Given the description of an element on the screen output the (x, y) to click on. 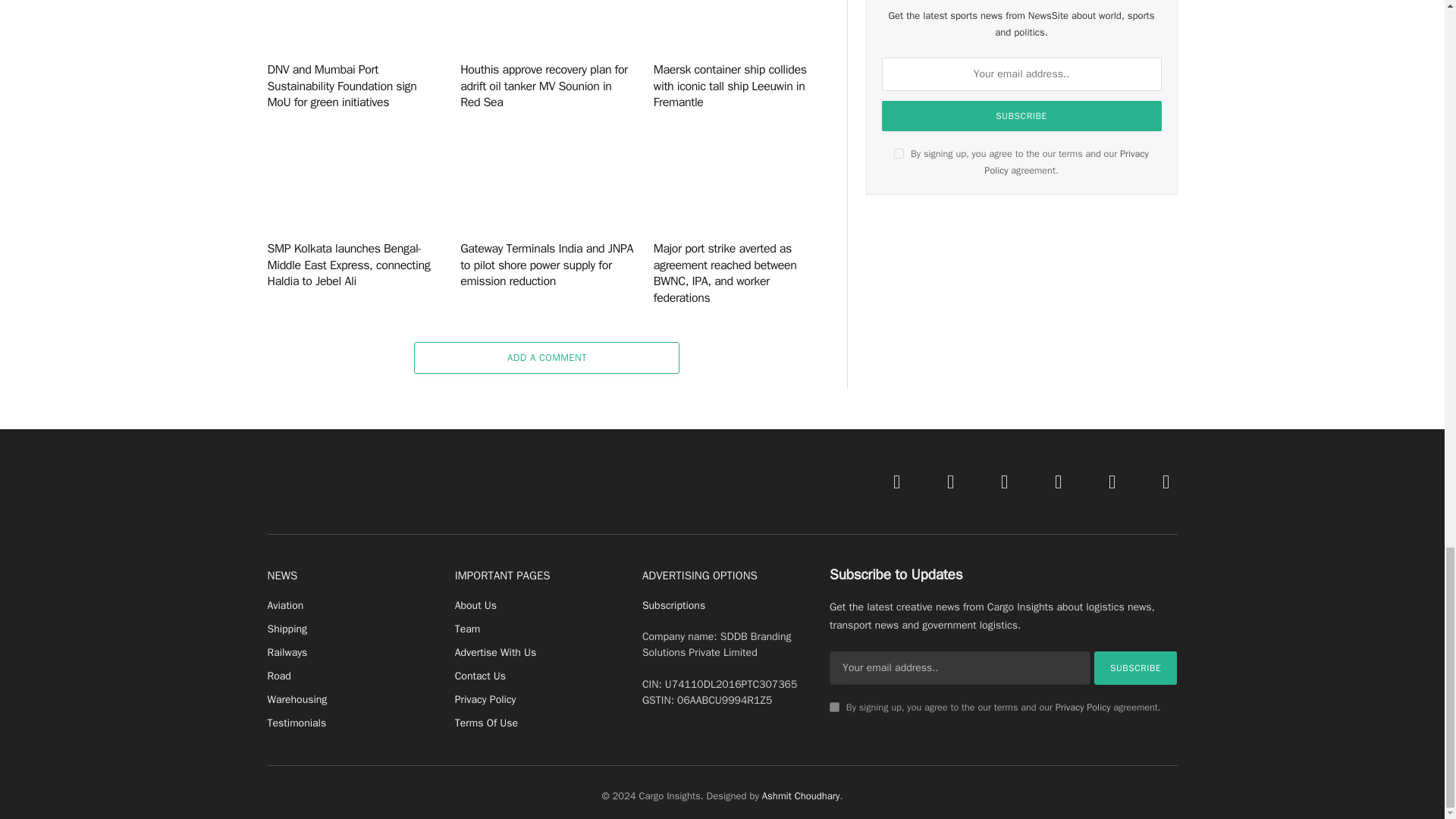
on (834, 706)
Subscribe (1135, 667)
Subscribe (1021, 115)
on (898, 153)
